Given the description of an element on the screen output the (x, y) to click on. 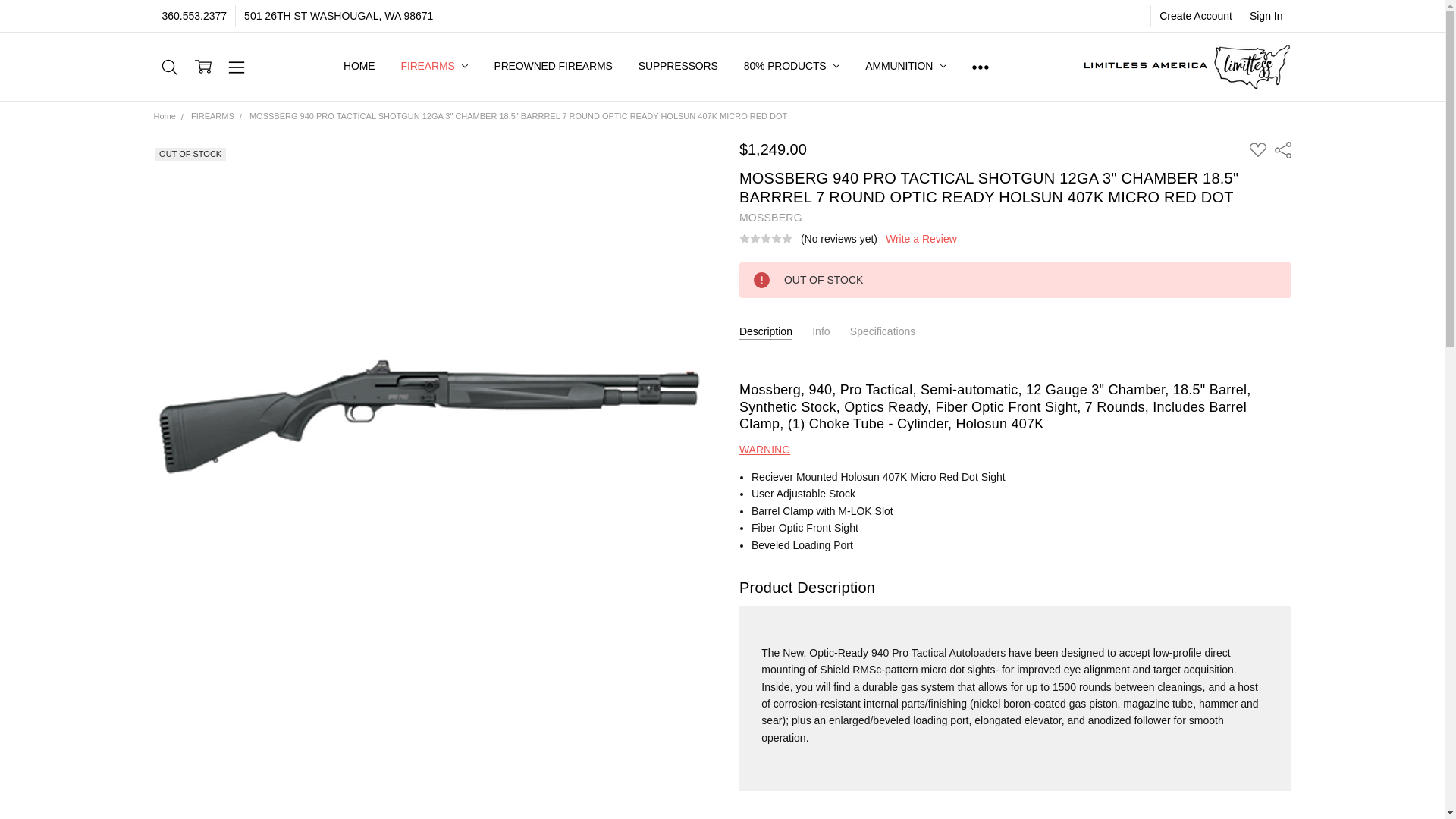
AMMUNITION (905, 65)
Create Account (1195, 15)
PREOWNED FIREARMS (552, 65)
501 26TH ST WASHOUGAL, WA 98671 (338, 15)
LIMITLESS AMERICA (1184, 66)
Sign In (1266, 15)
360.553.2377 (193, 15)
SUPPRESSORS (678, 65)
FIREARMS (433, 65)
